Given the description of an element on the screen output the (x, y) to click on. 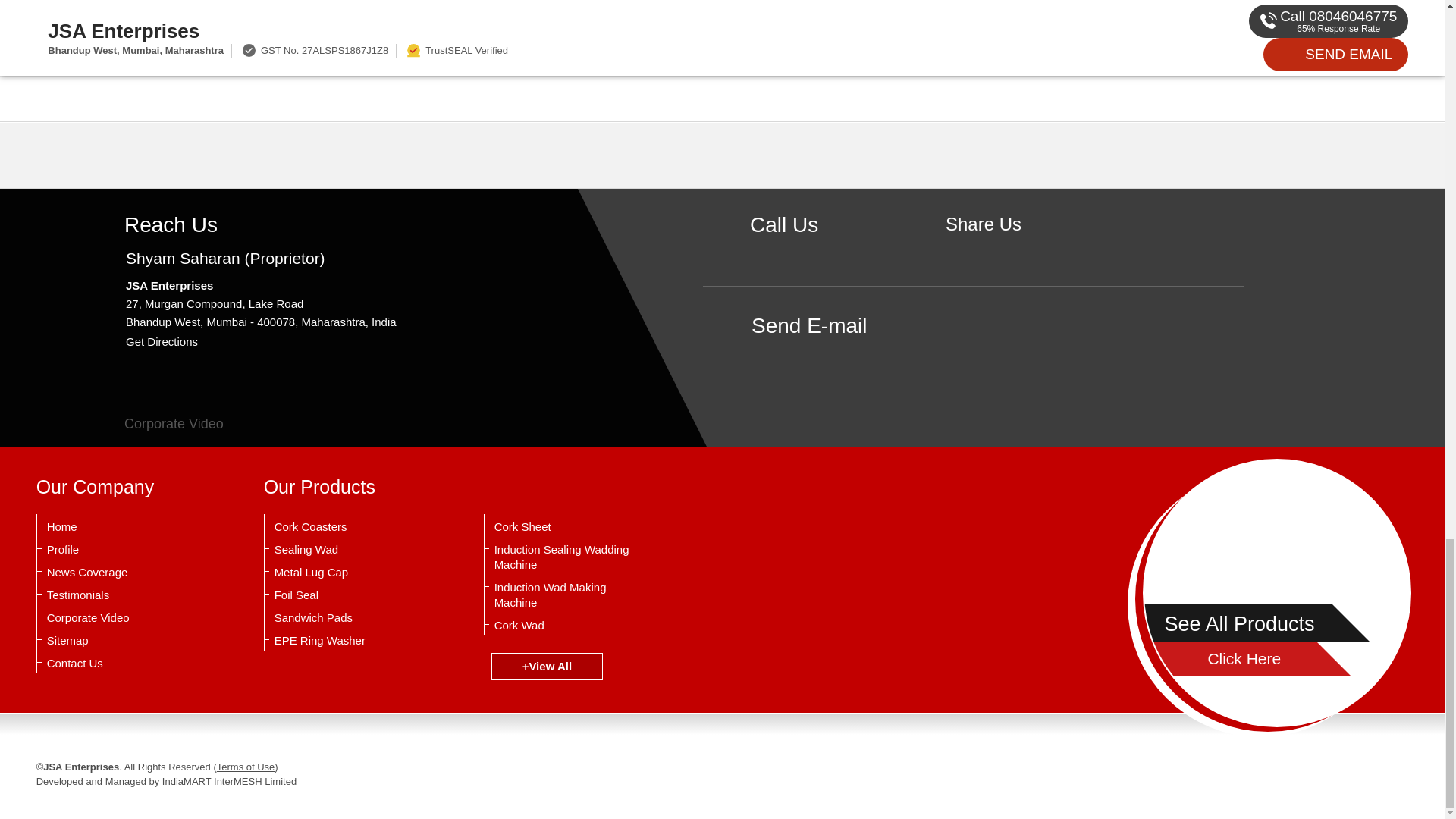
Get Directions (161, 341)
Facebook (983, 250)
Corporate Video (162, 423)
